Given the description of an element on the screen output the (x, y) to click on. 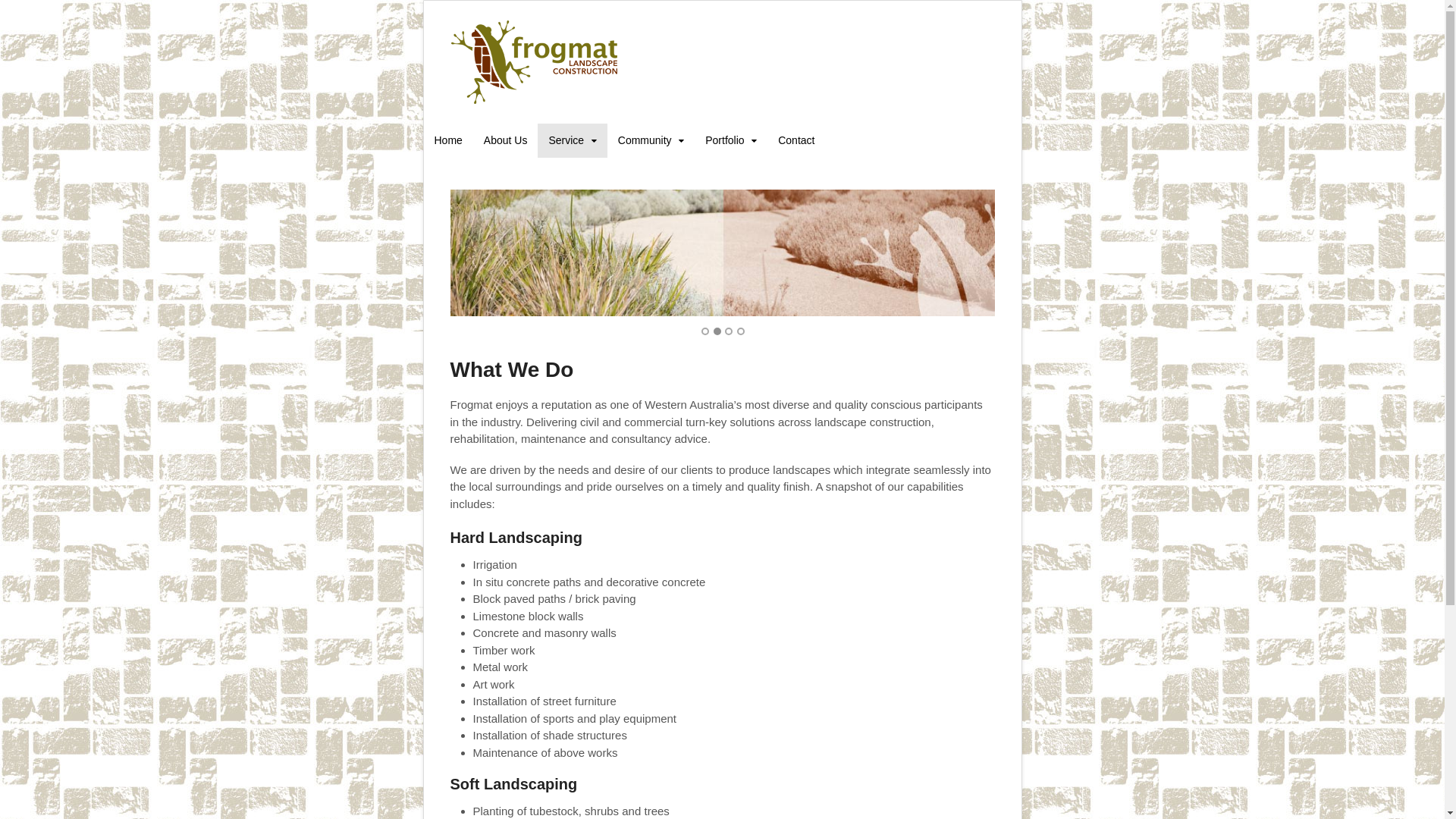
Community Element type: text (650, 140)
2 Element type: text (717, 331)
Portfolio Element type: text (730, 140)
4 Element type: text (740, 331)
Civil and Commercial Landscape Construction and Maintenance Element type: hover (534, 100)
1 Element type: text (705, 331)
Home Element type: text (447, 140)
Inner Slide 3 Element type: hover (722, 252)
About Us Element type: text (505, 140)
Contact Element type: text (796, 140)
3 Element type: text (728, 331)
Service Element type: text (571, 140)
